Given the description of an element on the screen output the (x, y) to click on. 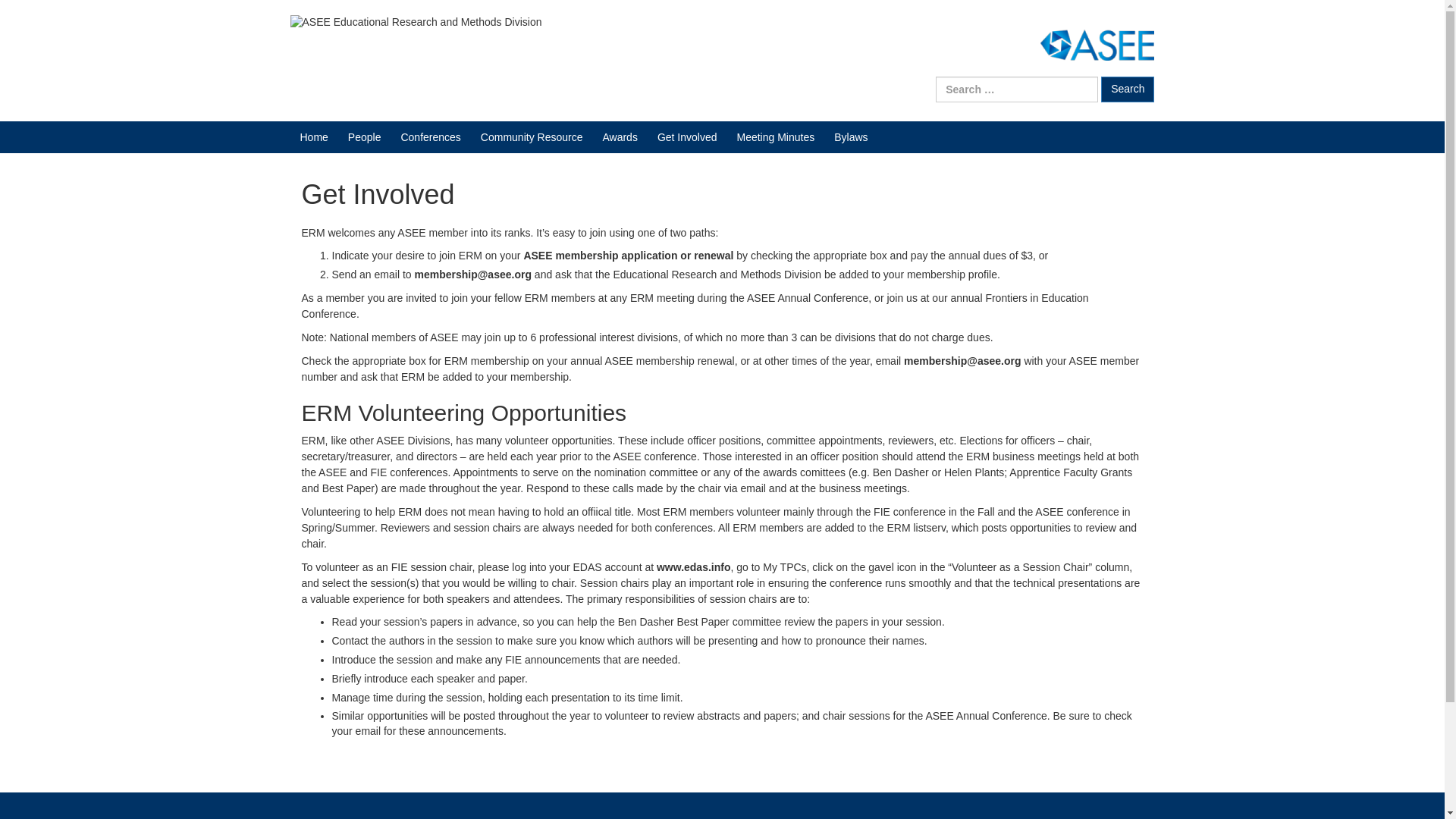
Meeting Minutes (775, 137)
ASEE membership application or renewal (627, 255)
Awards (619, 137)
Conferences (430, 137)
Skip to content (34, 7)
www.edas.info (693, 567)
Bylaws (850, 137)
People (364, 137)
Search (1127, 89)
Get Involved (687, 137)
